Given the description of an element on the screen output the (x, y) to click on. 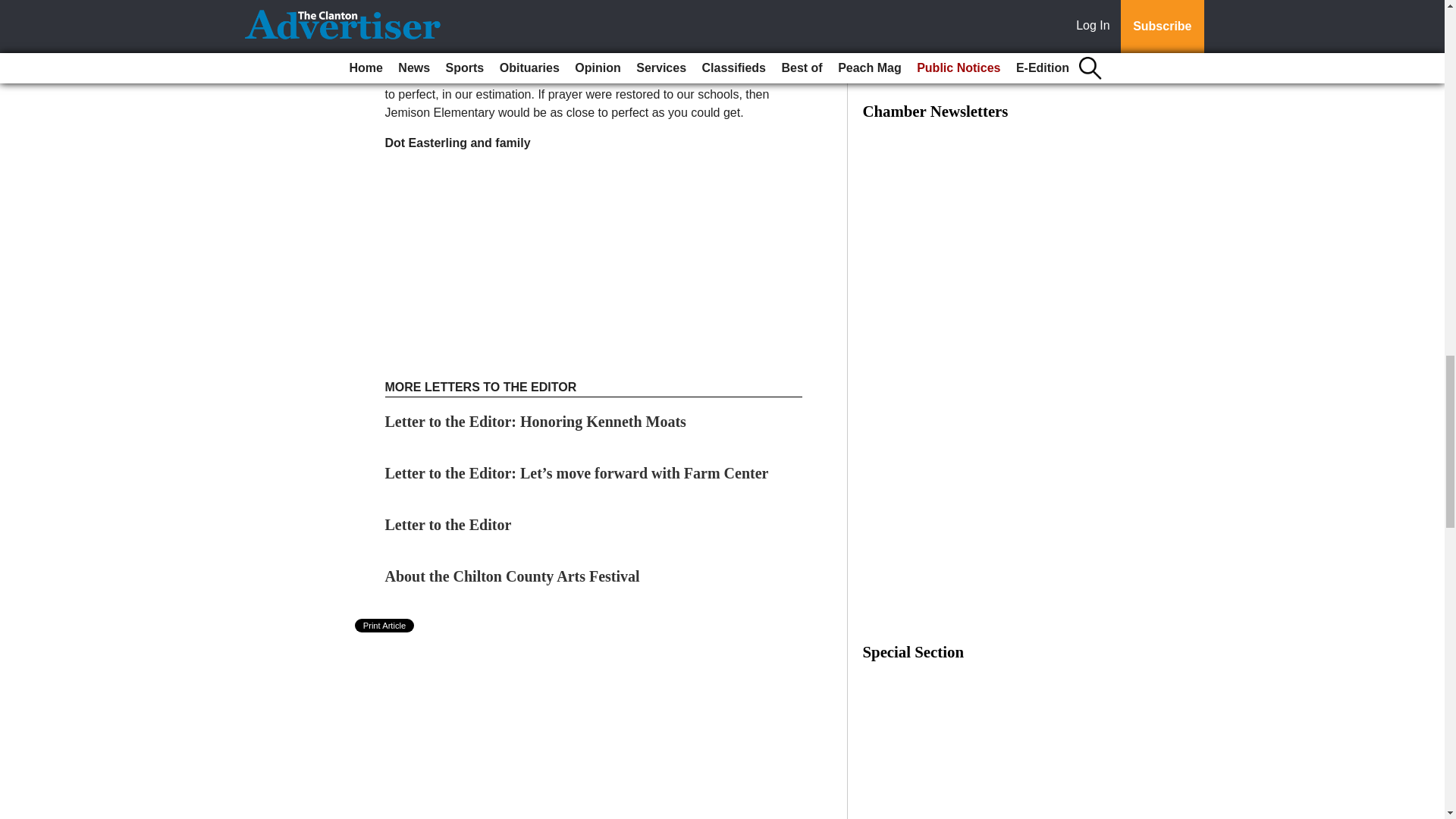
Letter to the Editor: Honoring Kenneth Moats (535, 421)
Print Article (384, 625)
About the Chilton County Arts Festival (512, 576)
Letter to the Editor  (450, 524)
About the Chilton County Arts Festival (512, 576)
Letter to the Editor: Honoring Kenneth Moats (535, 421)
